Given the description of an element on the screen output the (x, y) to click on. 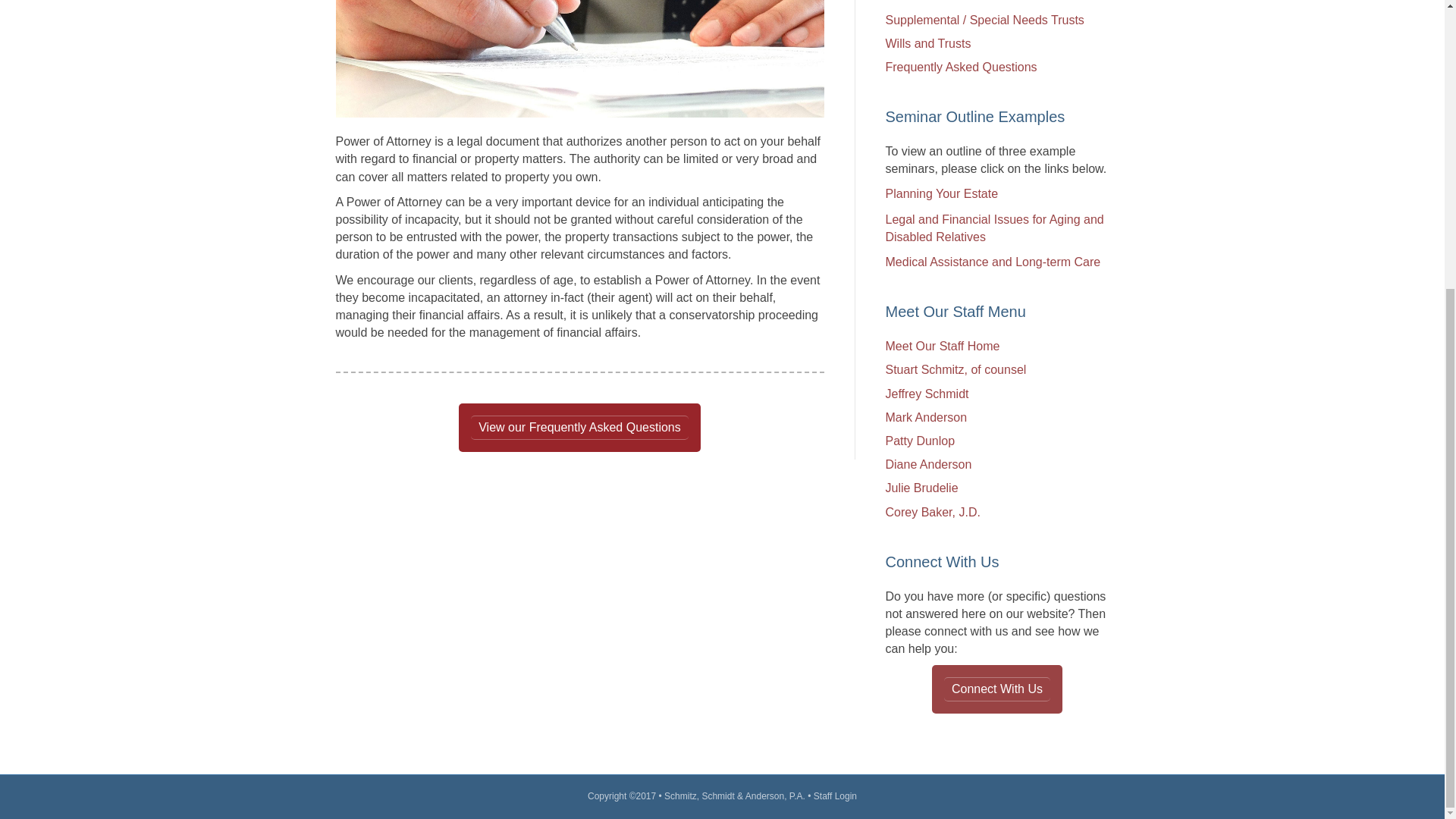
Legal and Financial Issues for Aging and Disabled Relatives (994, 227)
Stuart Schmitz, of counsel (955, 369)
Medical Assistance and Long-term Care (992, 261)
Meet Our Staff Home (942, 345)
Wills and Trusts (928, 42)
Planning Your Estate (941, 193)
Mark Anderson (926, 417)
Staff Login (835, 796)
Frequently Asked Questions (960, 66)
